Given the description of an element on the screen output the (x, y) to click on. 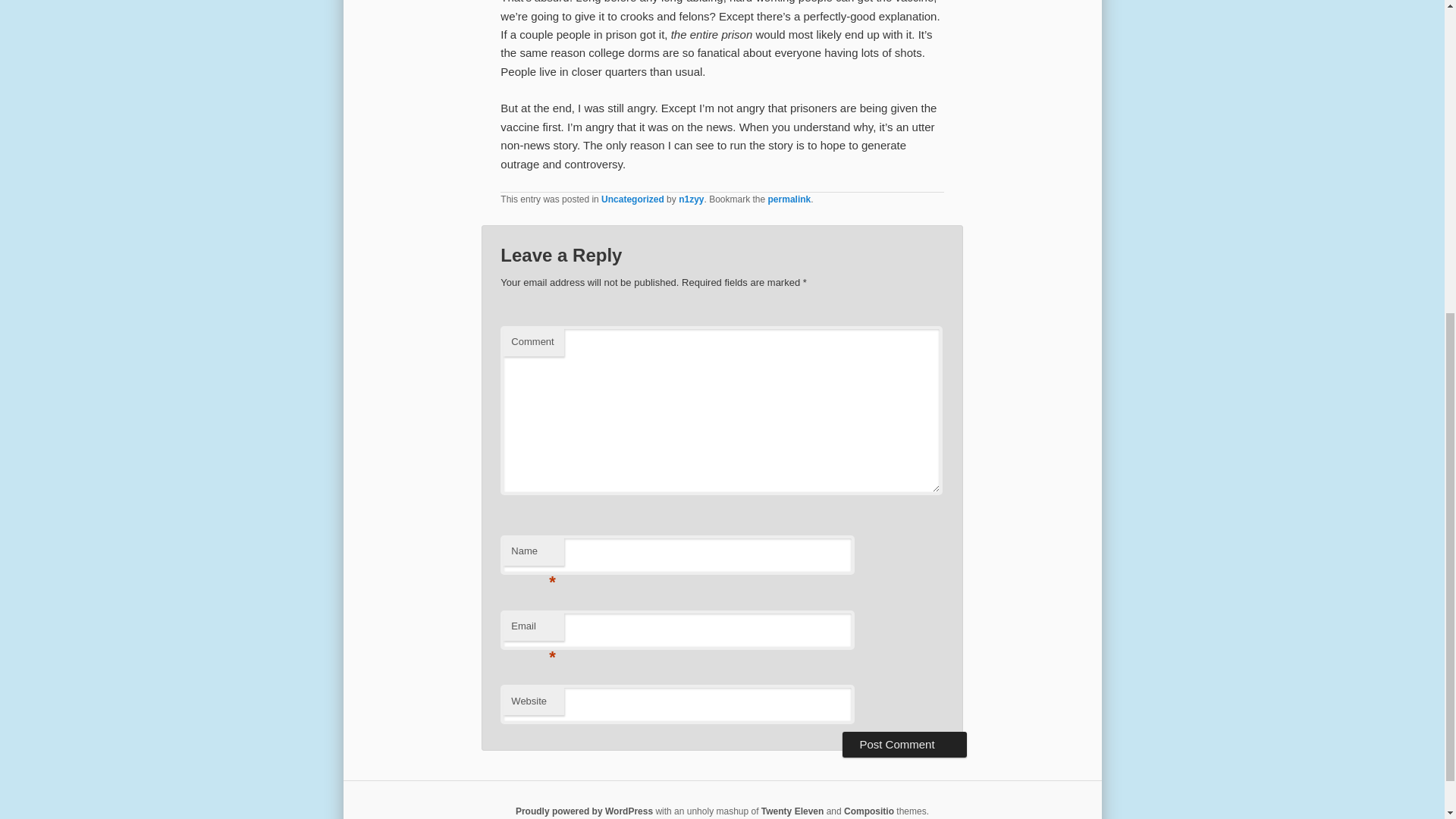
n1zyy (690, 199)
Semantic Personal Publishing Platform (583, 810)
Twenty Eleven (792, 810)
permalink (789, 199)
Post Comment (904, 744)
Compositio (868, 810)
Post Comment (904, 744)
Proudly powered by WordPress (583, 810)
Uncategorized (632, 199)
Permalink to Thinking about the News (789, 199)
